Given the description of an element on the screen output the (x, y) to click on. 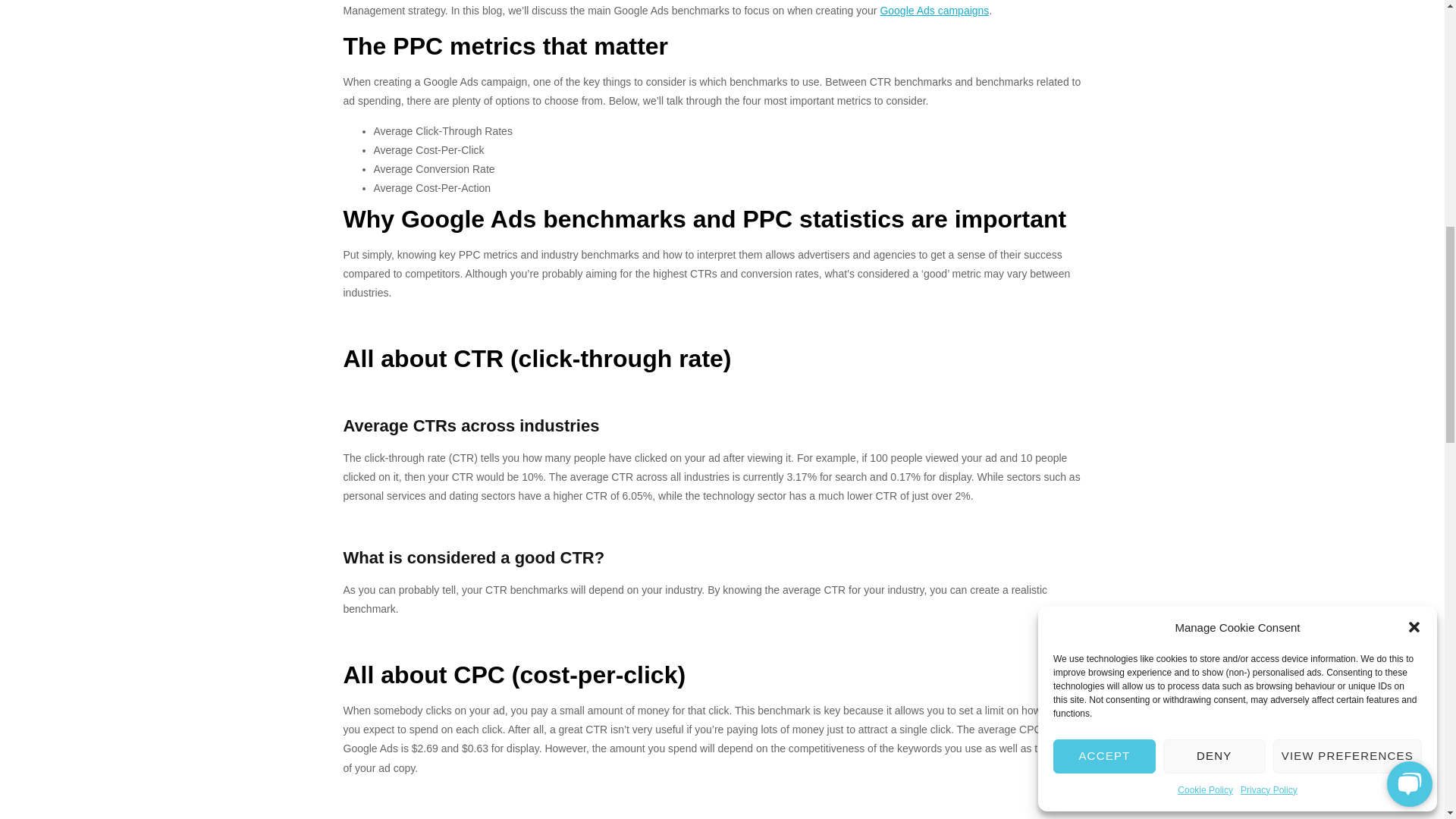
Google Ads campaigns (933, 10)
